Given the description of an element on the screen output the (x, y) to click on. 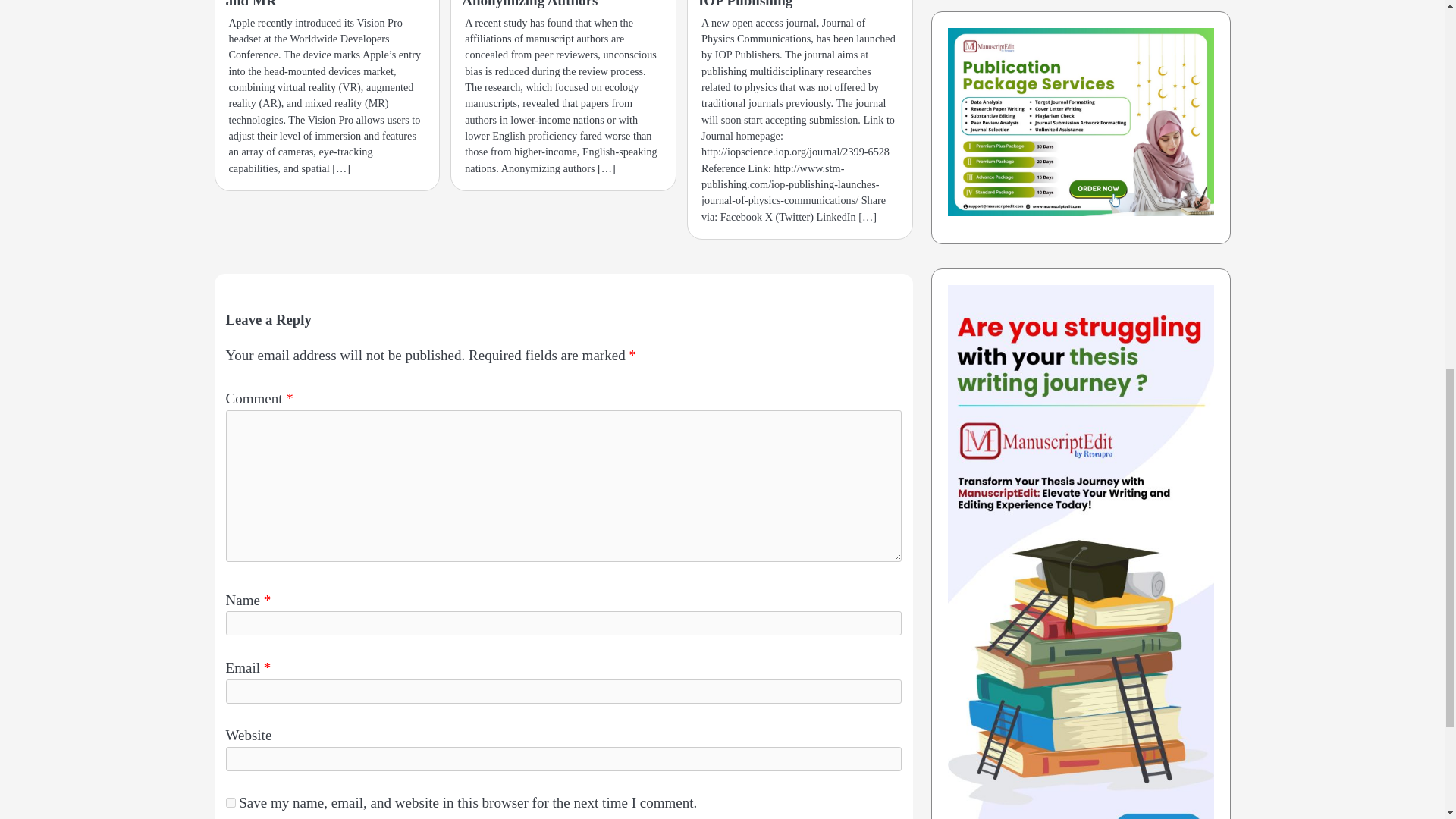
yes (230, 802)
